Given the description of an element on the screen output the (x, y) to click on. 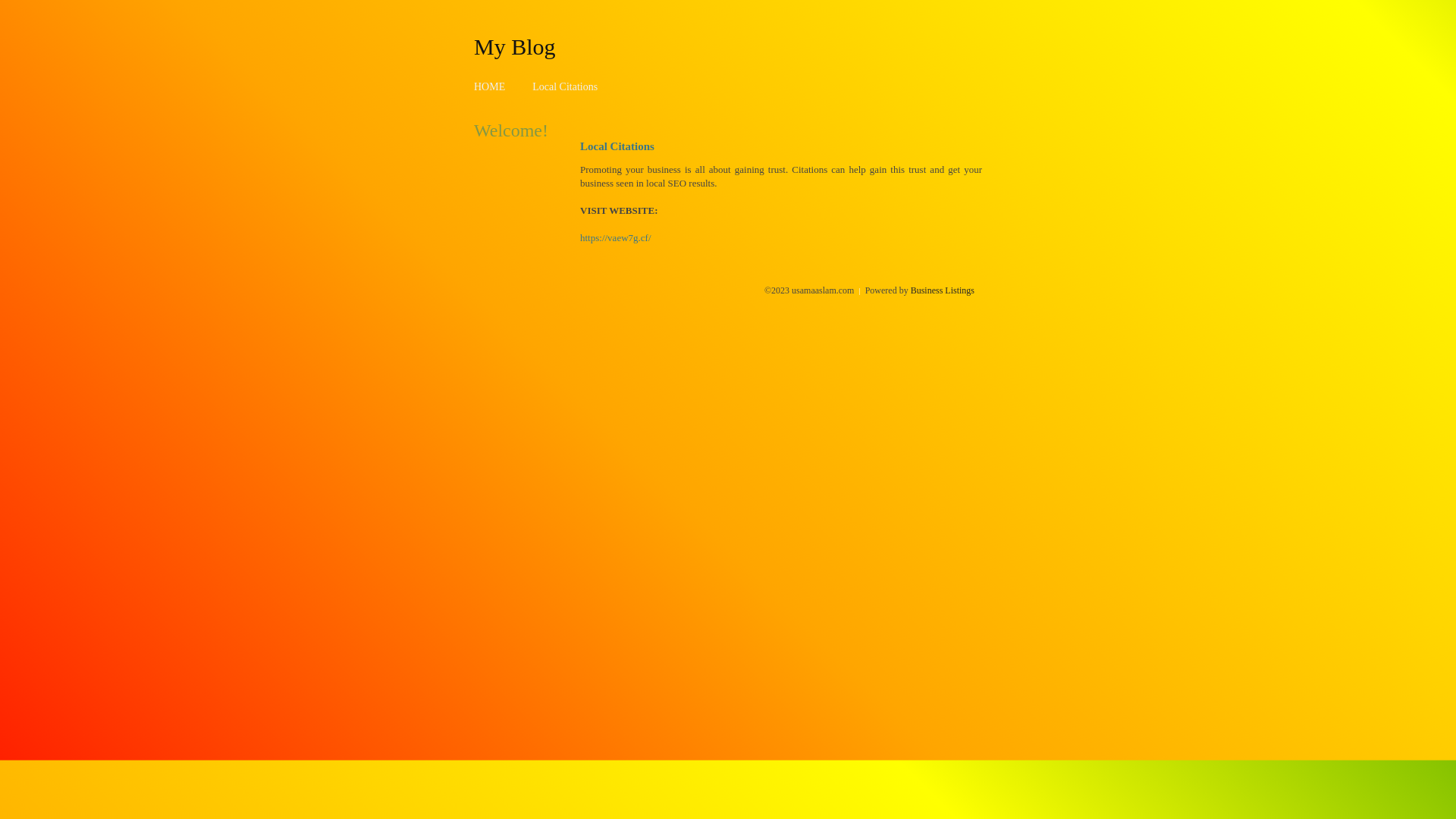
Business Listings Element type: text (942, 290)
HOME Element type: text (489, 86)
https://vaew7g.cf/ Element type: text (615, 237)
My Blog Element type: text (514, 46)
Local Citations Element type: text (564, 86)
